Given the description of an element on the screen output the (x, y) to click on. 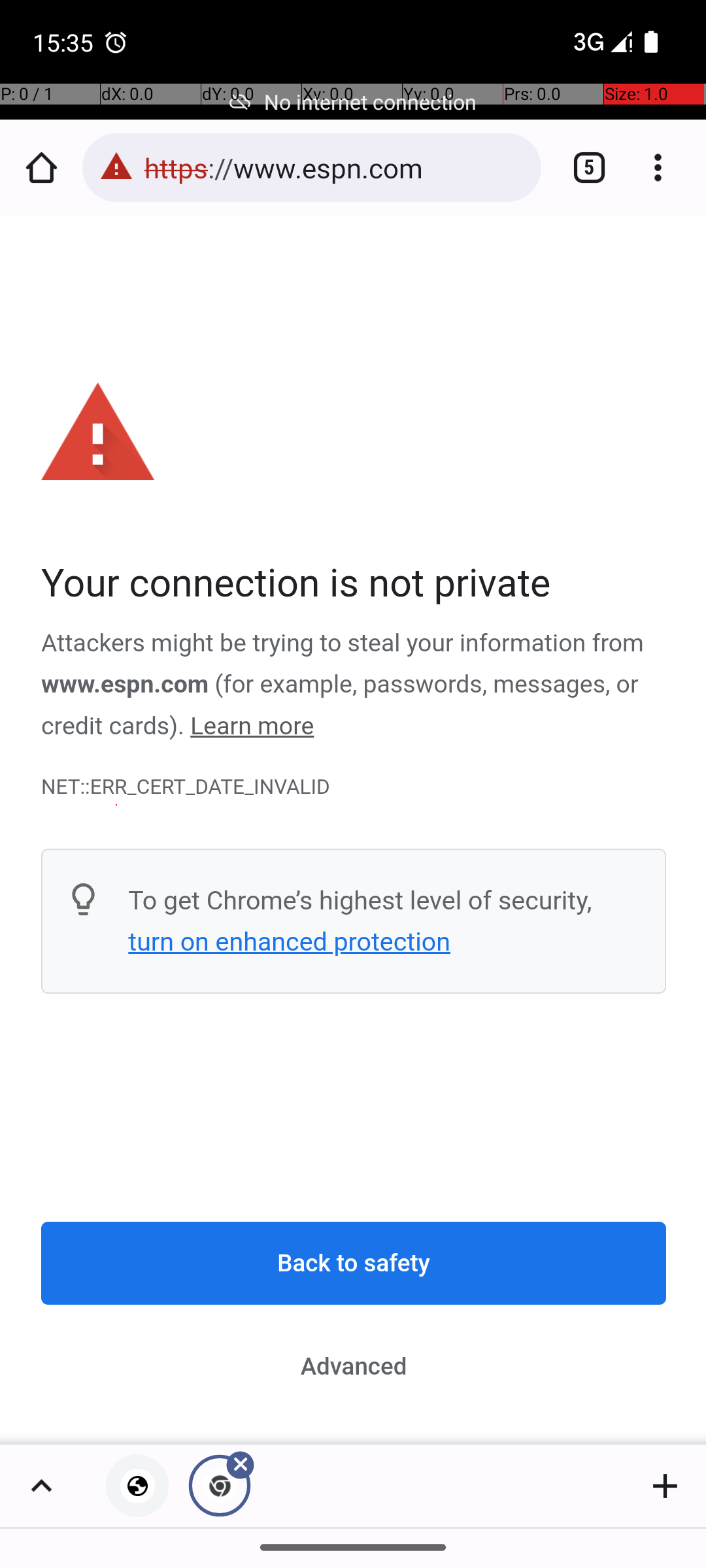
https://www.espn.com Element type: android.widget.EditText (335, 167)
www.espn.com Element type: android.widget.TextView (125, 684)
